Given the description of an element on the screen output the (x, y) to click on. 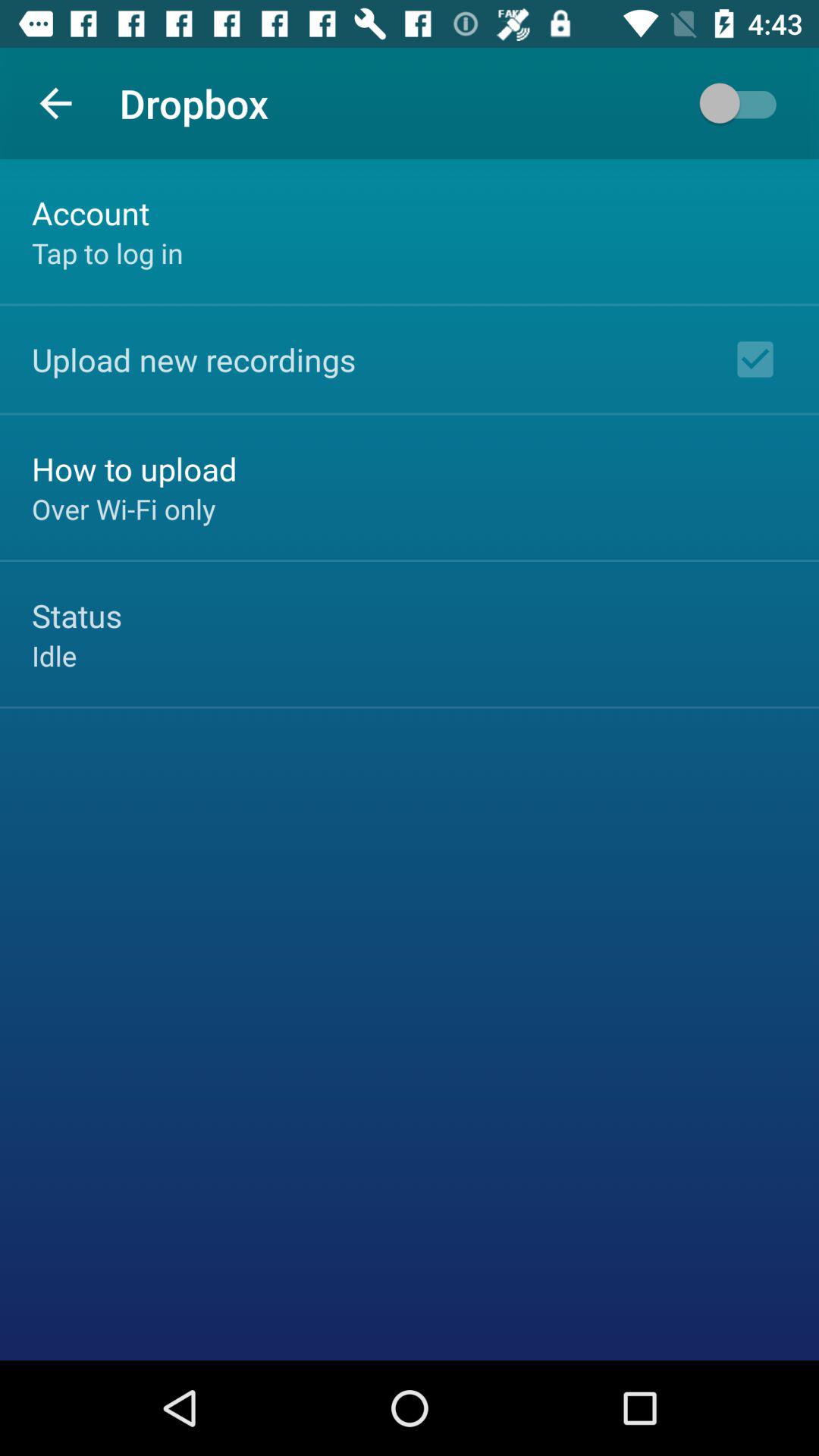
scroll to the how to upload icon (134, 468)
